Given the description of an element on the screen output the (x, y) to click on. 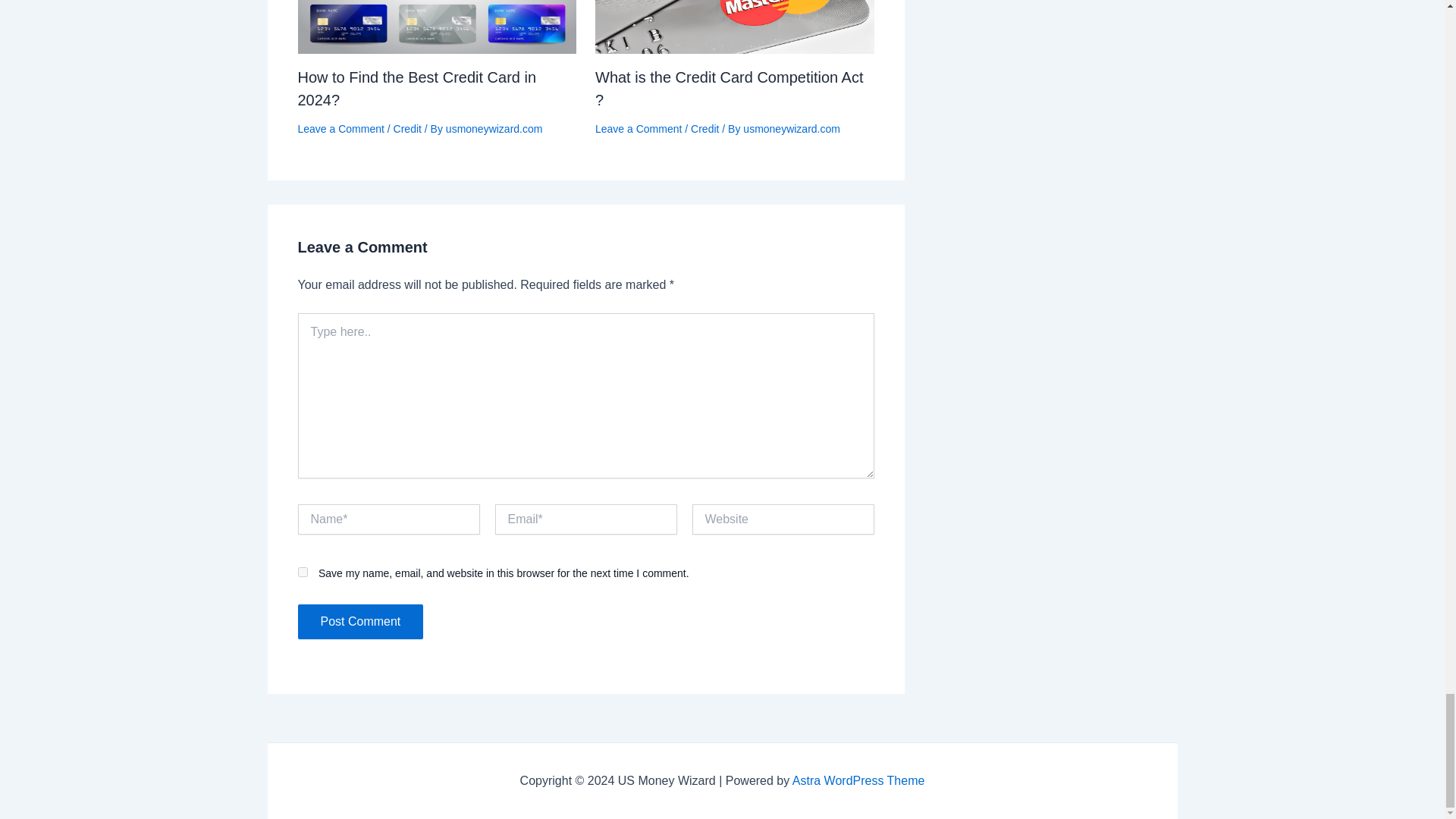
View all posts by usmoneywizard.com (494, 128)
Post Comment (360, 621)
yes (302, 572)
View all posts by usmoneywizard.com (791, 128)
